Given the description of an element on the screen output the (x, y) to click on. 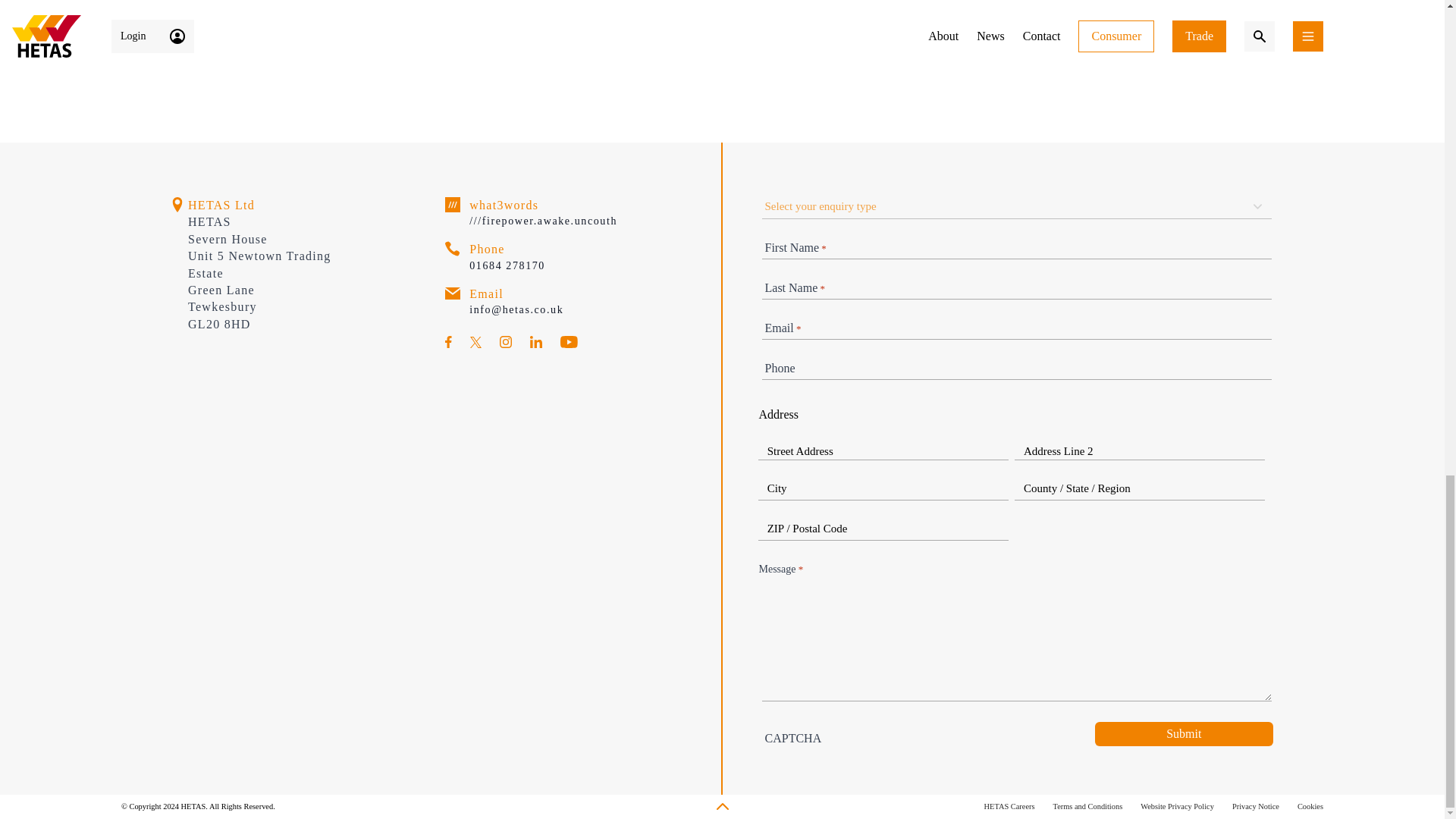
Submit (1183, 733)
